Given the description of an element on the screen output the (x, y) to click on. 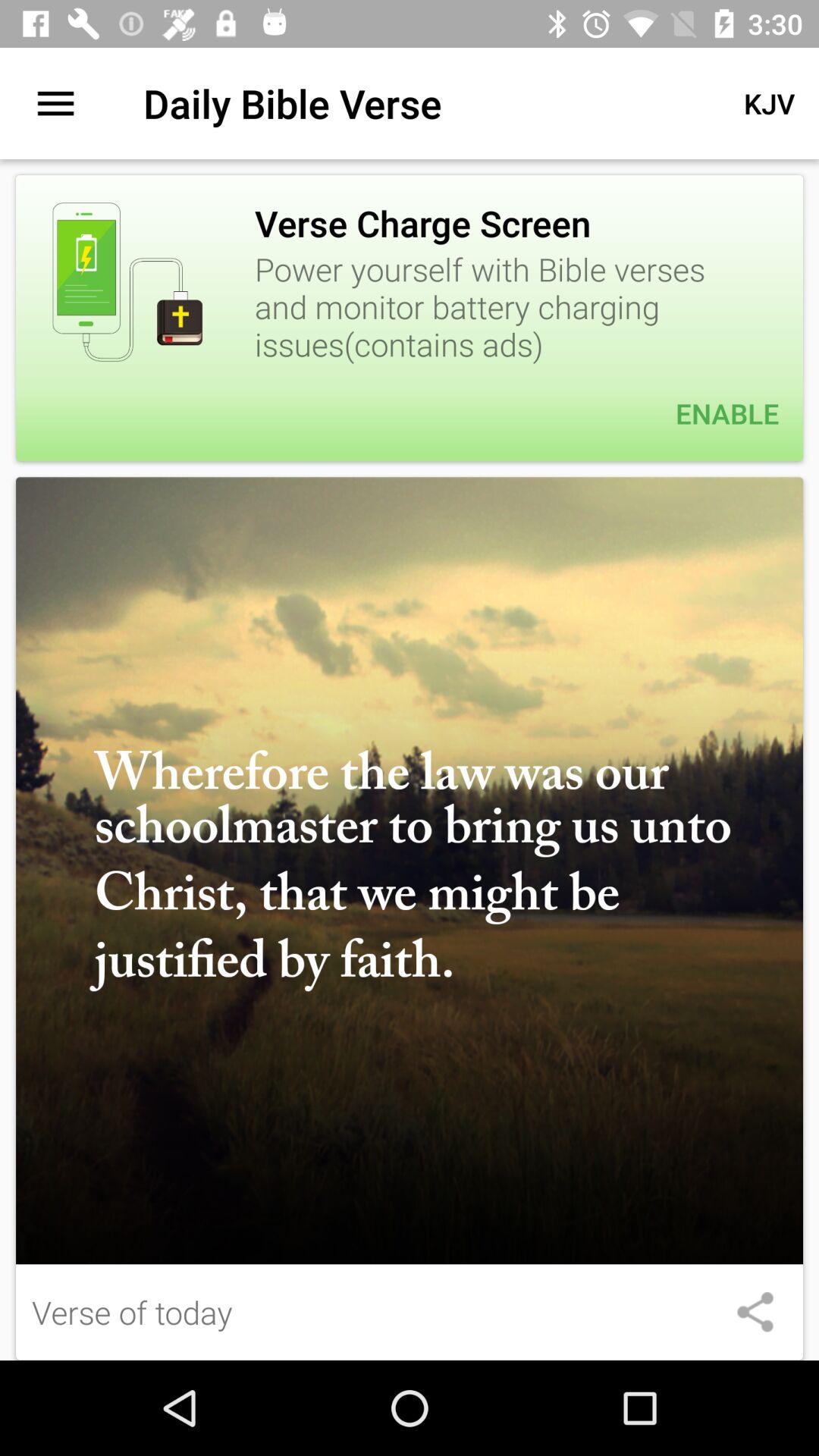
share this image (755, 1311)
